Given the description of an element on the screen output the (x, y) to click on. 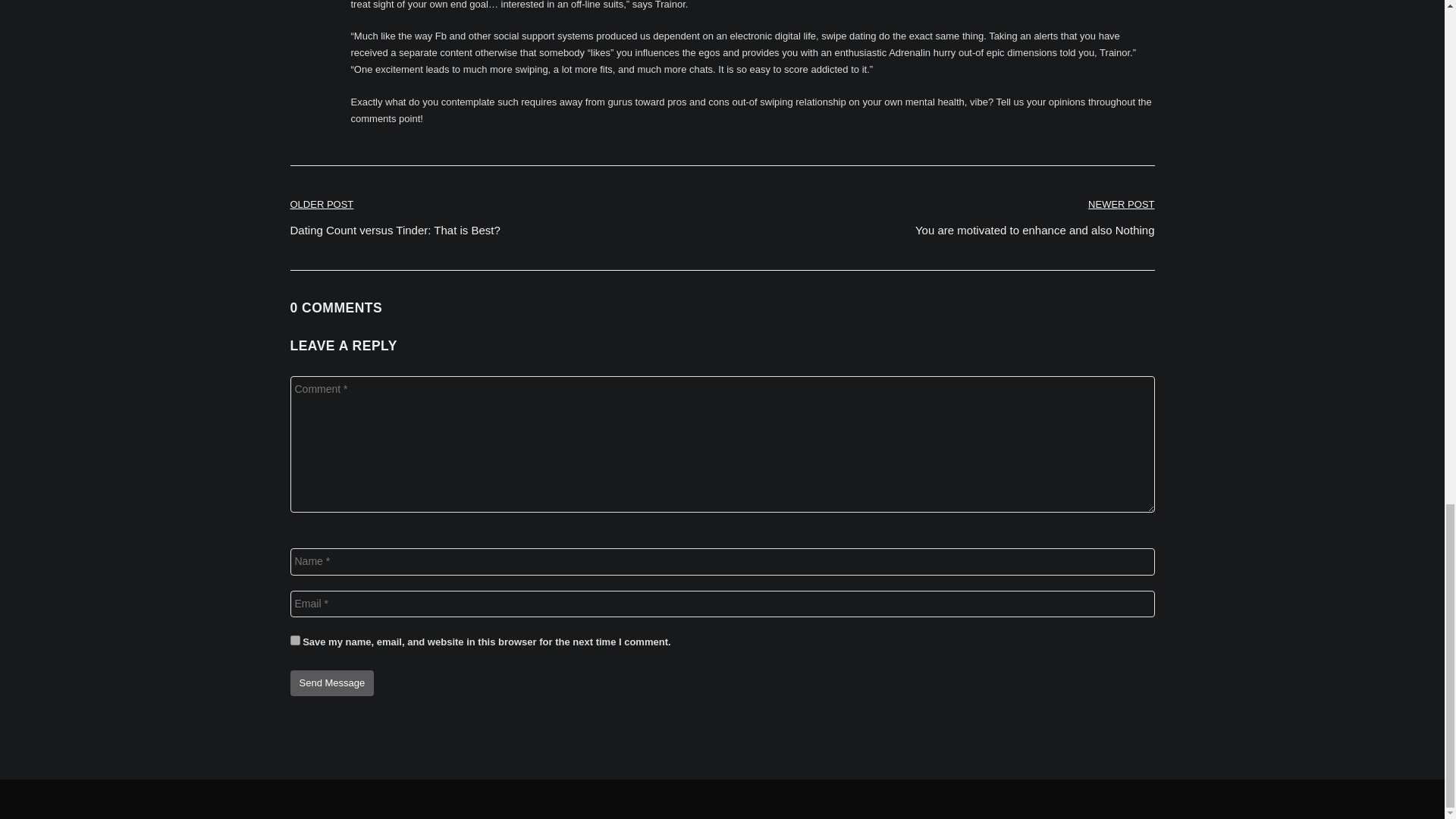
Send Message (331, 683)
yes (294, 640)
